Given the description of an element on the screen output the (x, y) to click on. 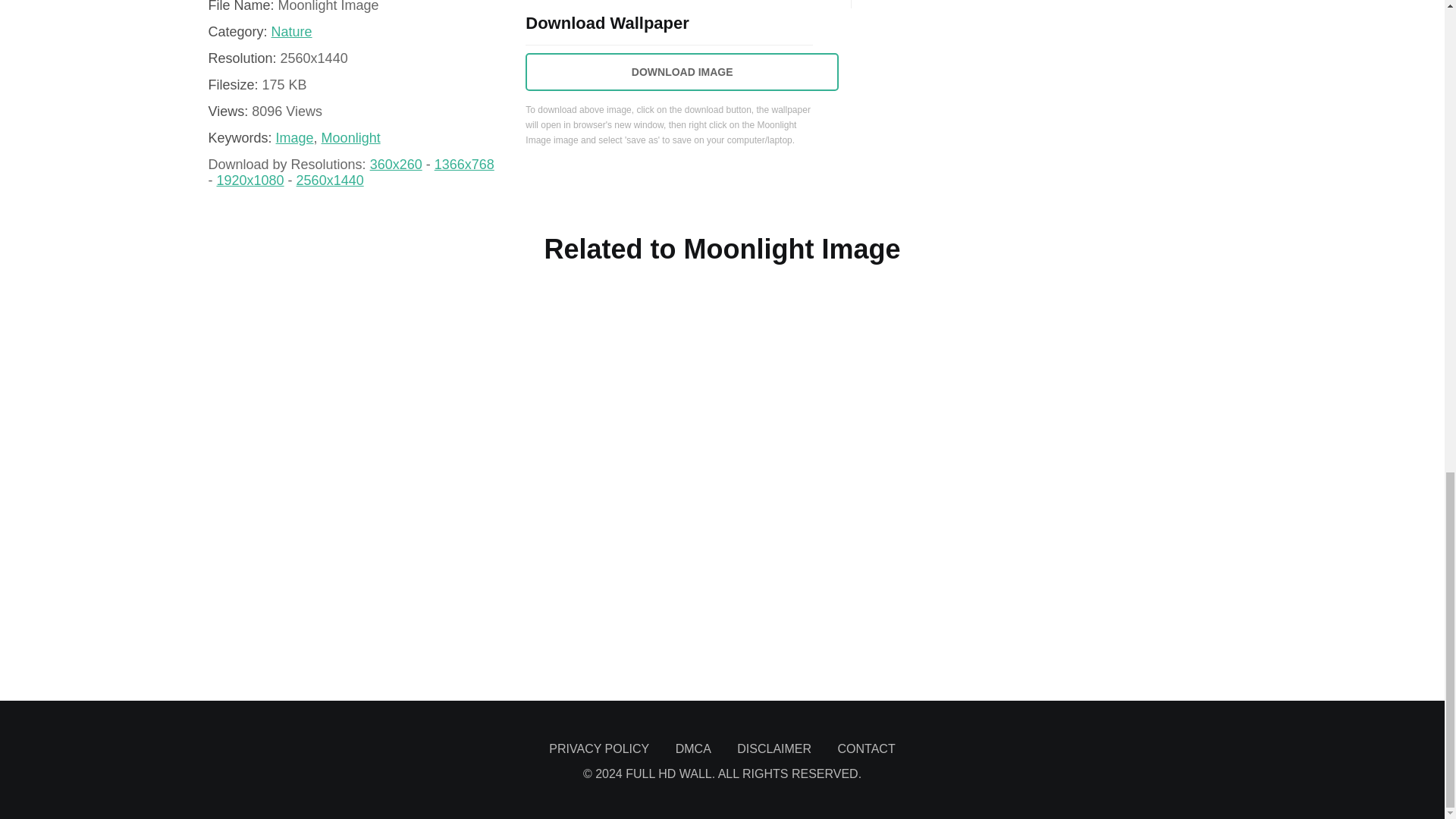
View all posts in Nature (291, 31)
